Given the description of an element on the screen output the (x, y) to click on. 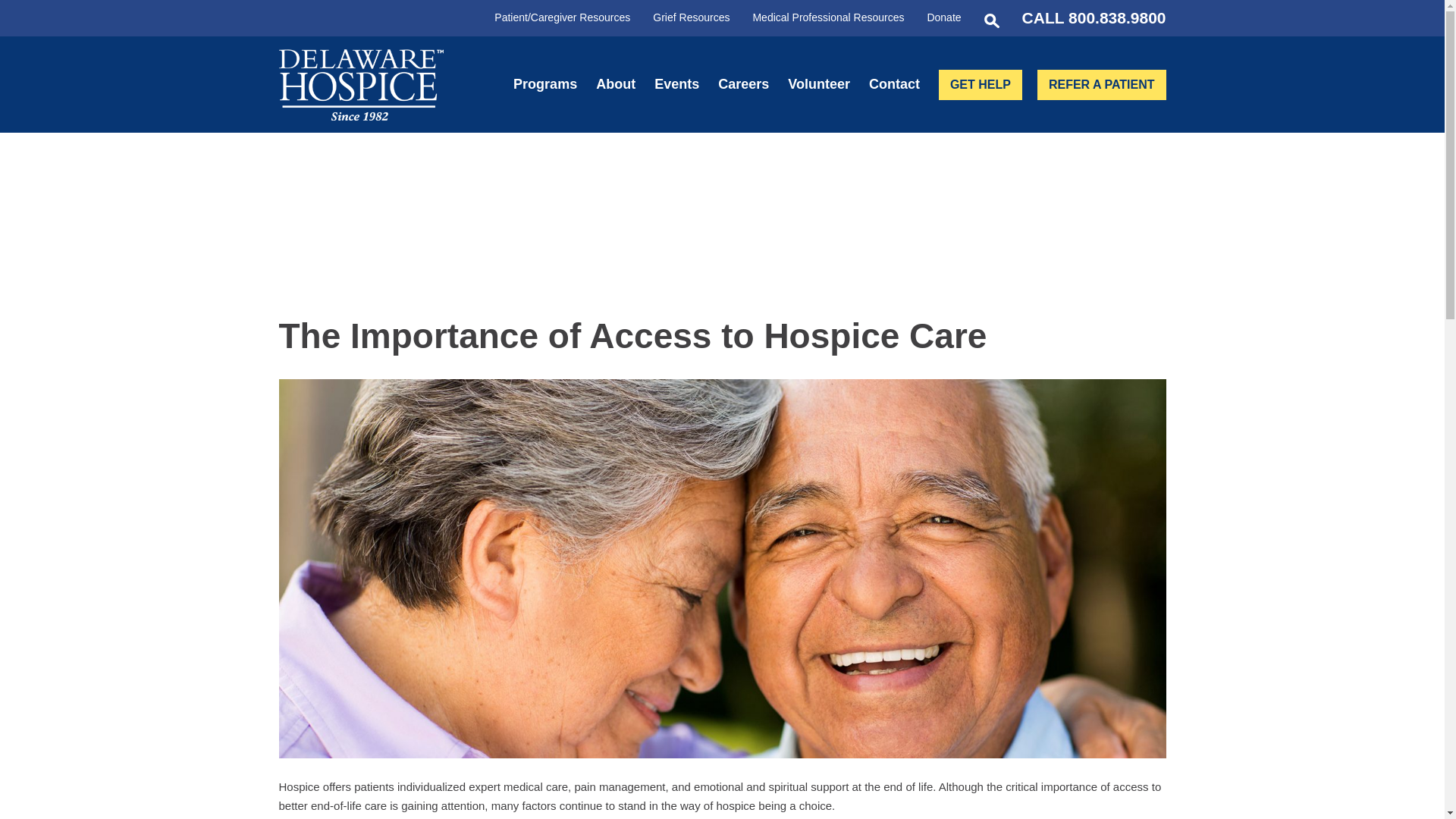
Medical Professional Resources (828, 17)
Grief Resources (690, 17)
REFER A PATIENT (1101, 84)
CALL 800.838.9800 (1094, 17)
Donate (943, 17)
GET HELP (980, 84)
